Given the description of an element on the screen output the (x, y) to click on. 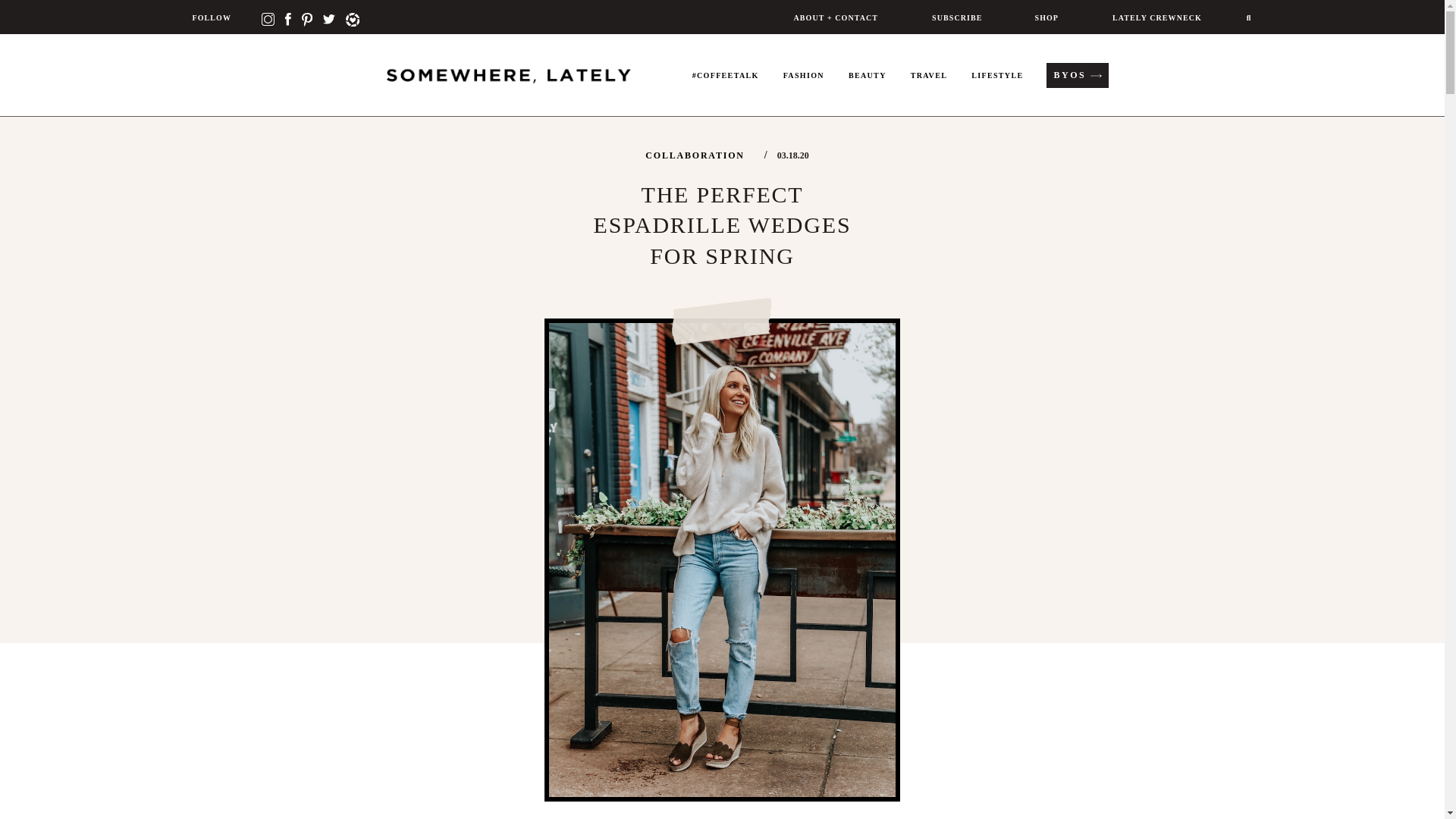
BEAUTY (867, 87)
LATELY CREWNECK (1155, 17)
FASHION (803, 87)
SHOP (1044, 17)
ENTER (938, 222)
SUBSCRIBE (954, 17)
TRAVEL (928, 87)
